Given the description of an element on the screen output the (x, y) to click on. 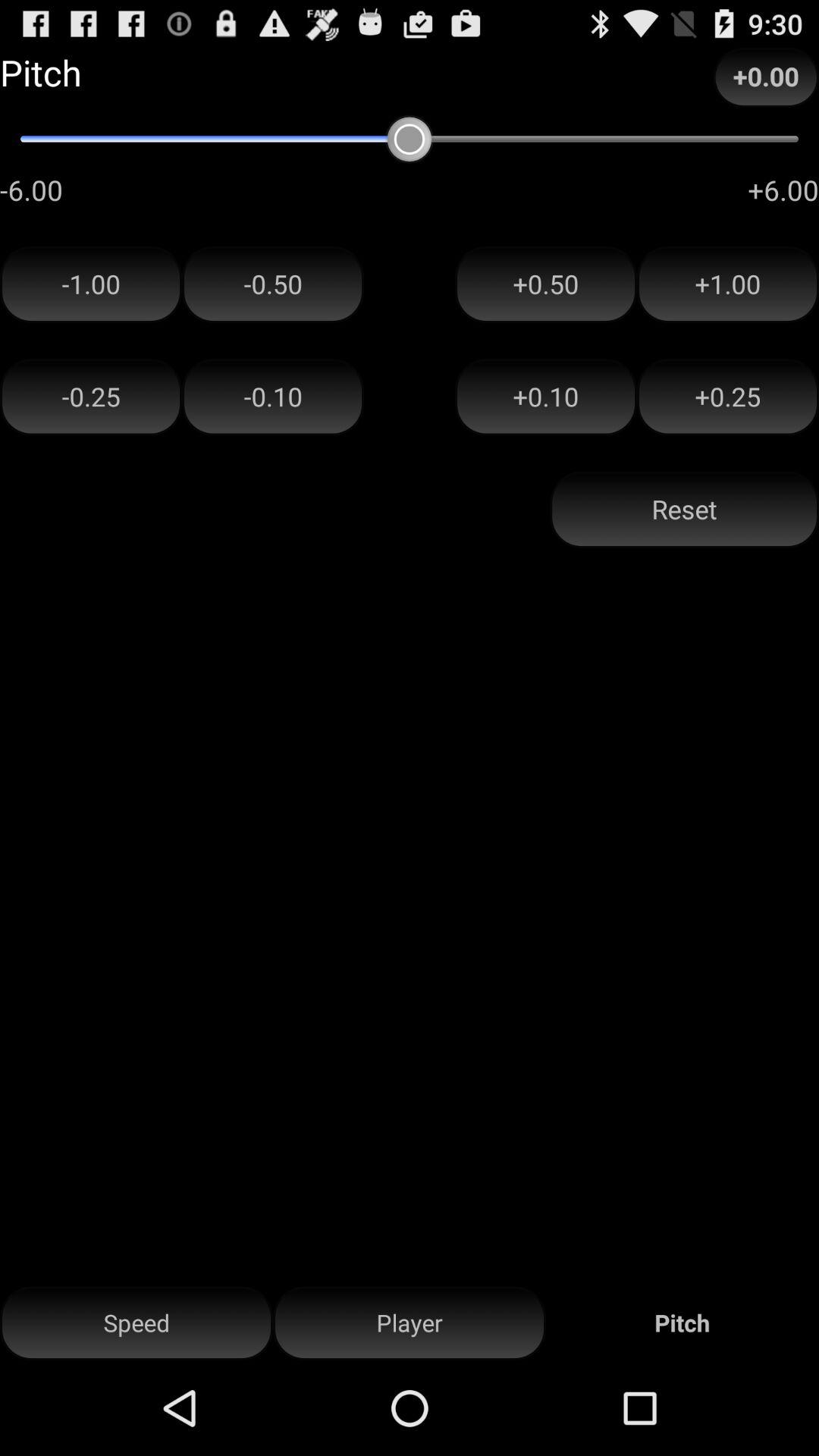
scroll to the reset item (684, 509)
